Given the description of an element on the screen output the (x, y) to click on. 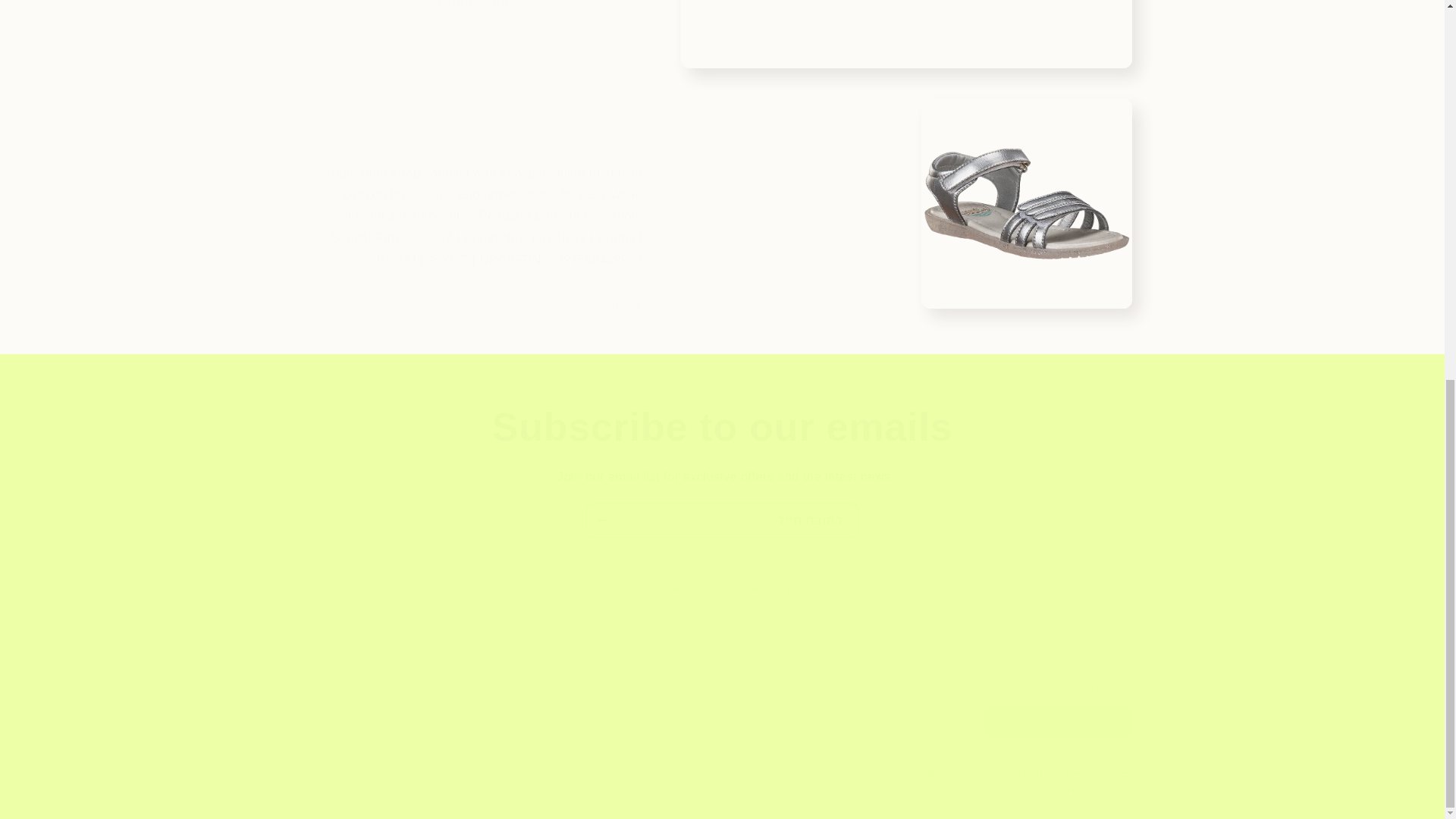
Ponpano (946, 773)
Subscribe to our emails (721, 426)
